Given the description of an element on the screen output the (x, y) to click on. 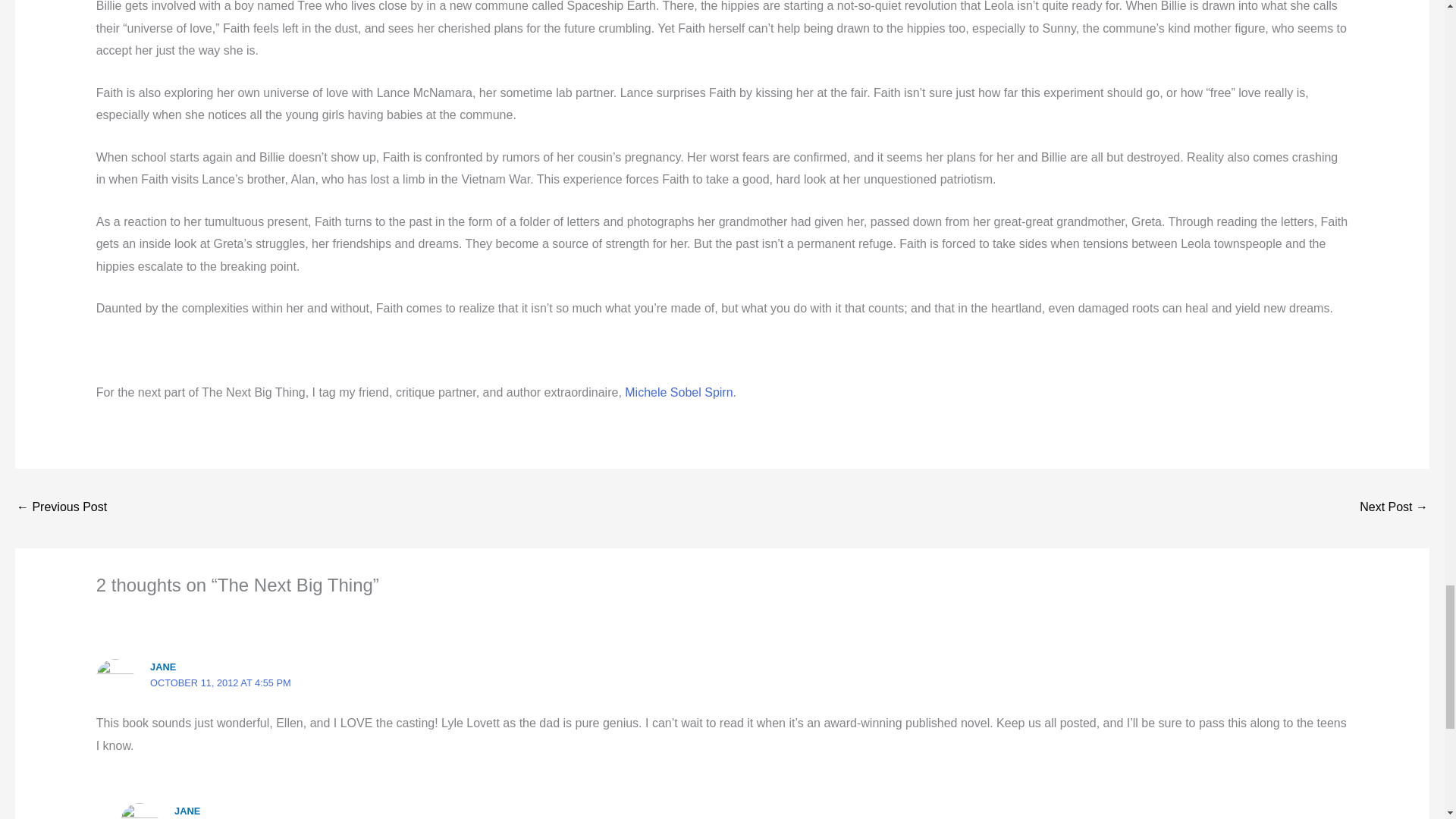
Michele Sobel Spirn (678, 391)
OCTOBER 11, 2012 AT 4:55 PM (220, 682)
Michele Spirn (678, 391)
The obstacle is the path (61, 508)
"Dreamstorming" (1393, 508)
